Given the description of an element on the screen output the (x, y) to click on. 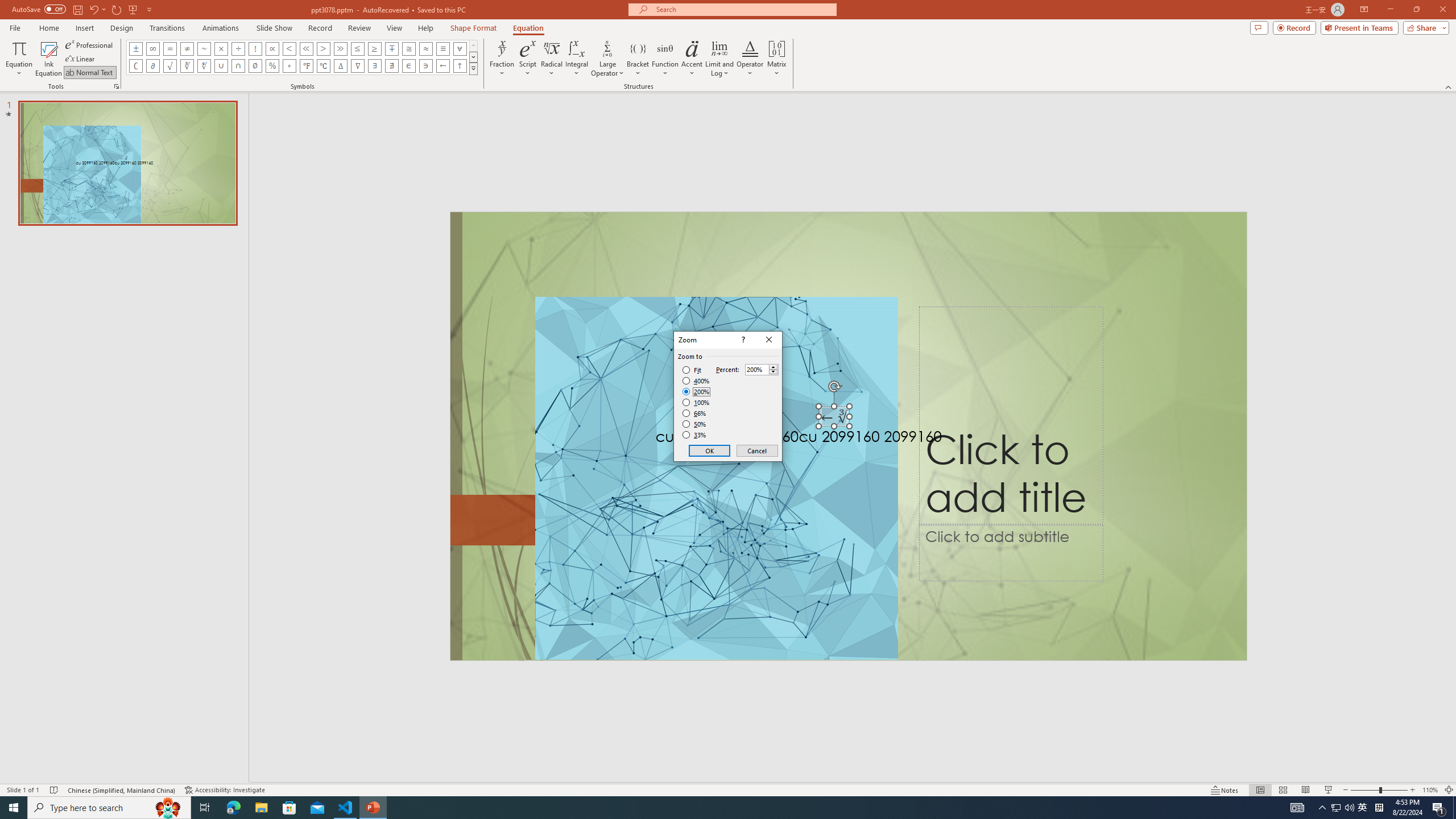
Equation Symbol Approximately (203, 48)
Equation Symbol There Exists (374, 65)
Equation Symbol Less Than (289, 48)
Equation Symbol Radical Sign (170, 65)
Equation Symbol Equal (170, 48)
Equation Symbol Increment (340, 65)
50% (694, 424)
Equation Symbol Identical To (442, 48)
Equation Symbol Multiplication Sign (221, 48)
Equation (18, 58)
